Given the description of an element on the screen output the (x, y) to click on. 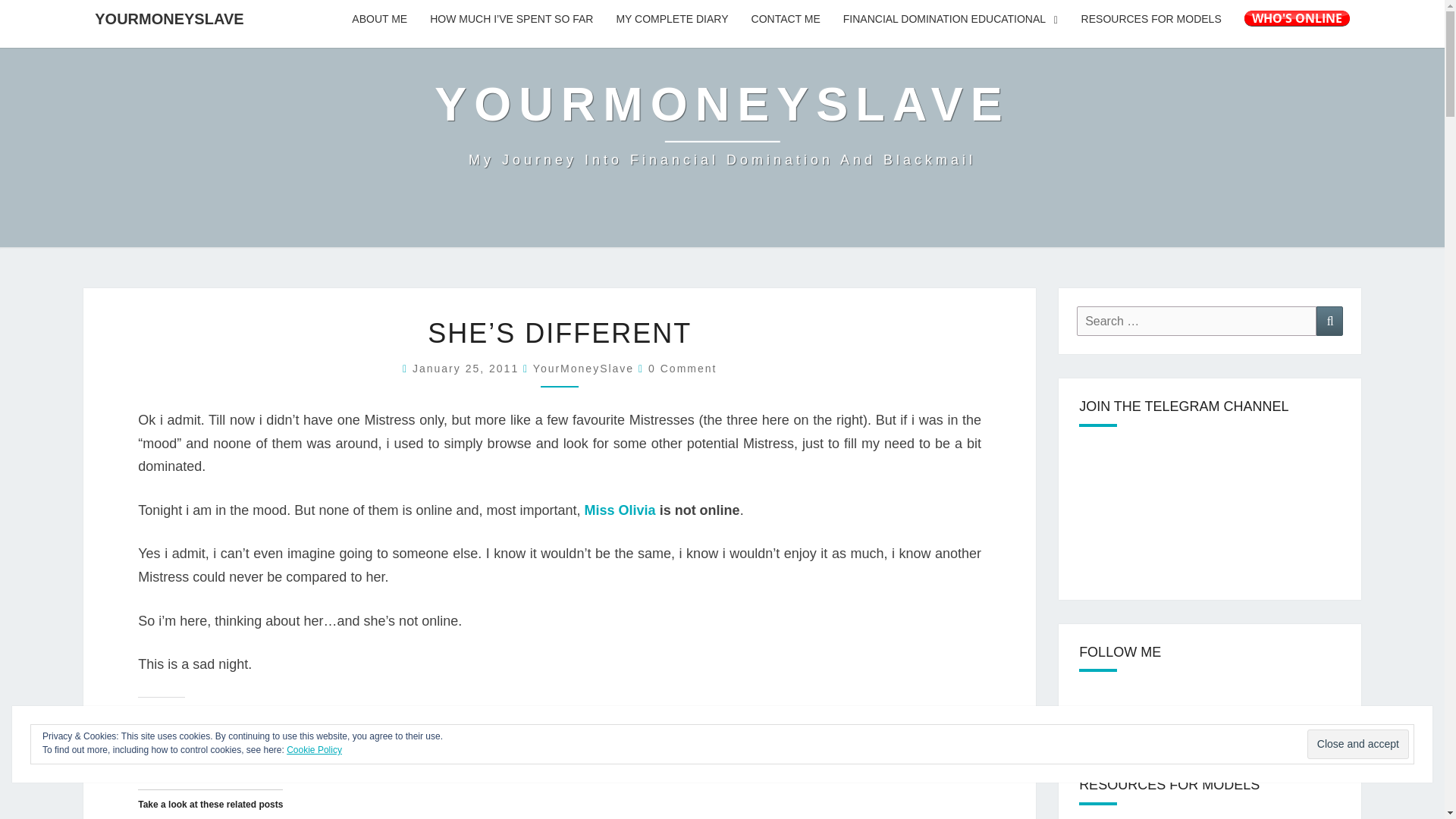
Click to share on Pocket (301, 739)
Miss Olivia (620, 509)
Click to share on X (149, 739)
RESOURCES FOR MODELS (1151, 19)
Click to share on LinkedIn (392, 739)
0 Comment (681, 368)
Click to share on Pinterest (240, 739)
YourMoneySlave (721, 123)
Click to share on Reddit (210, 739)
View all posts by YourMoneySlave (582, 368)
